Given the description of an element on the screen output the (x, y) to click on. 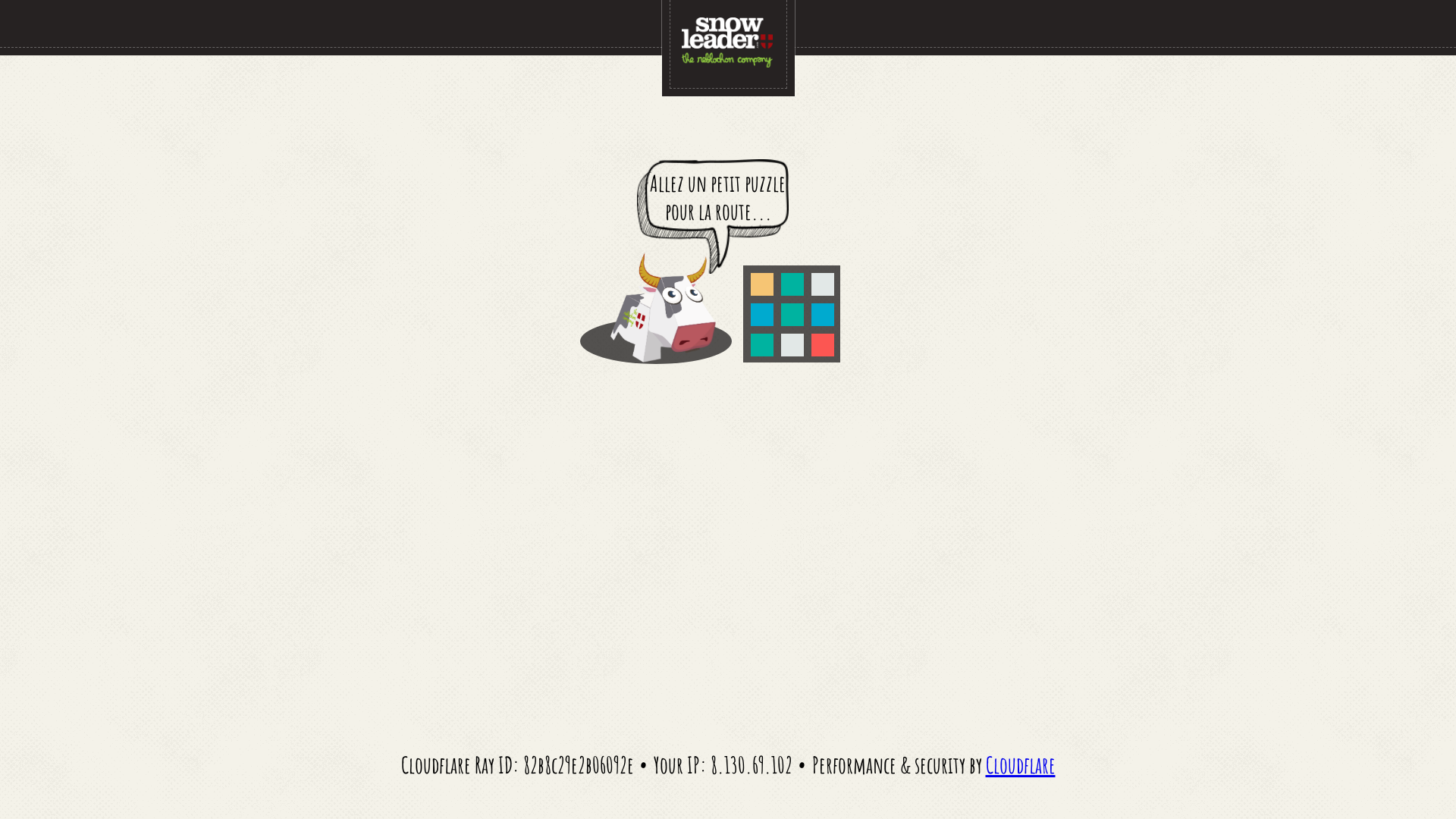
Cloudflare Element type: text (1020, 764)
